Given the description of an element on the screen output the (x, y) to click on. 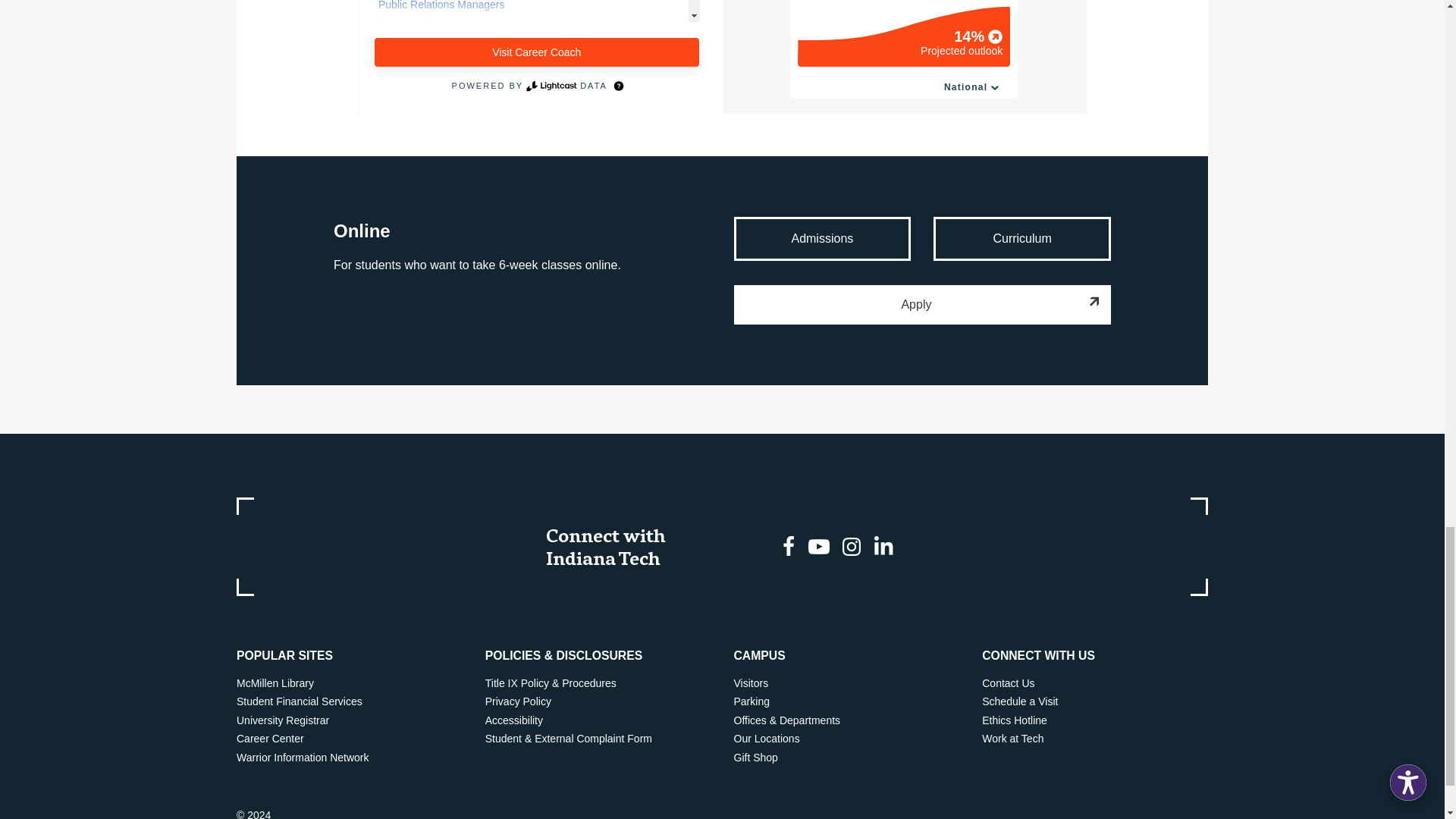
indianatech widget (722, 56)
